Given the description of an element on the screen output the (x, y) to click on. 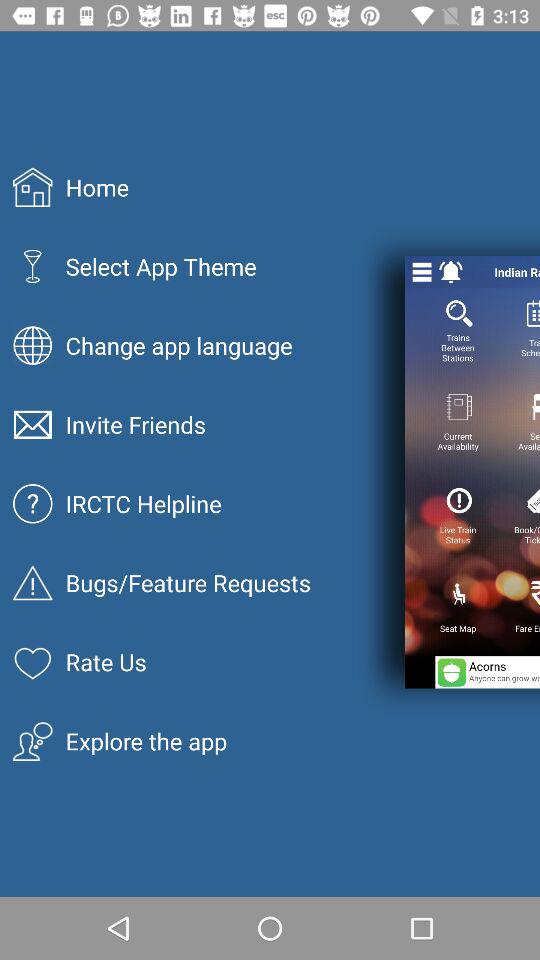
launch icon to the right of the select app theme (422, 271)
